Given the description of an element on the screen output the (x, y) to click on. 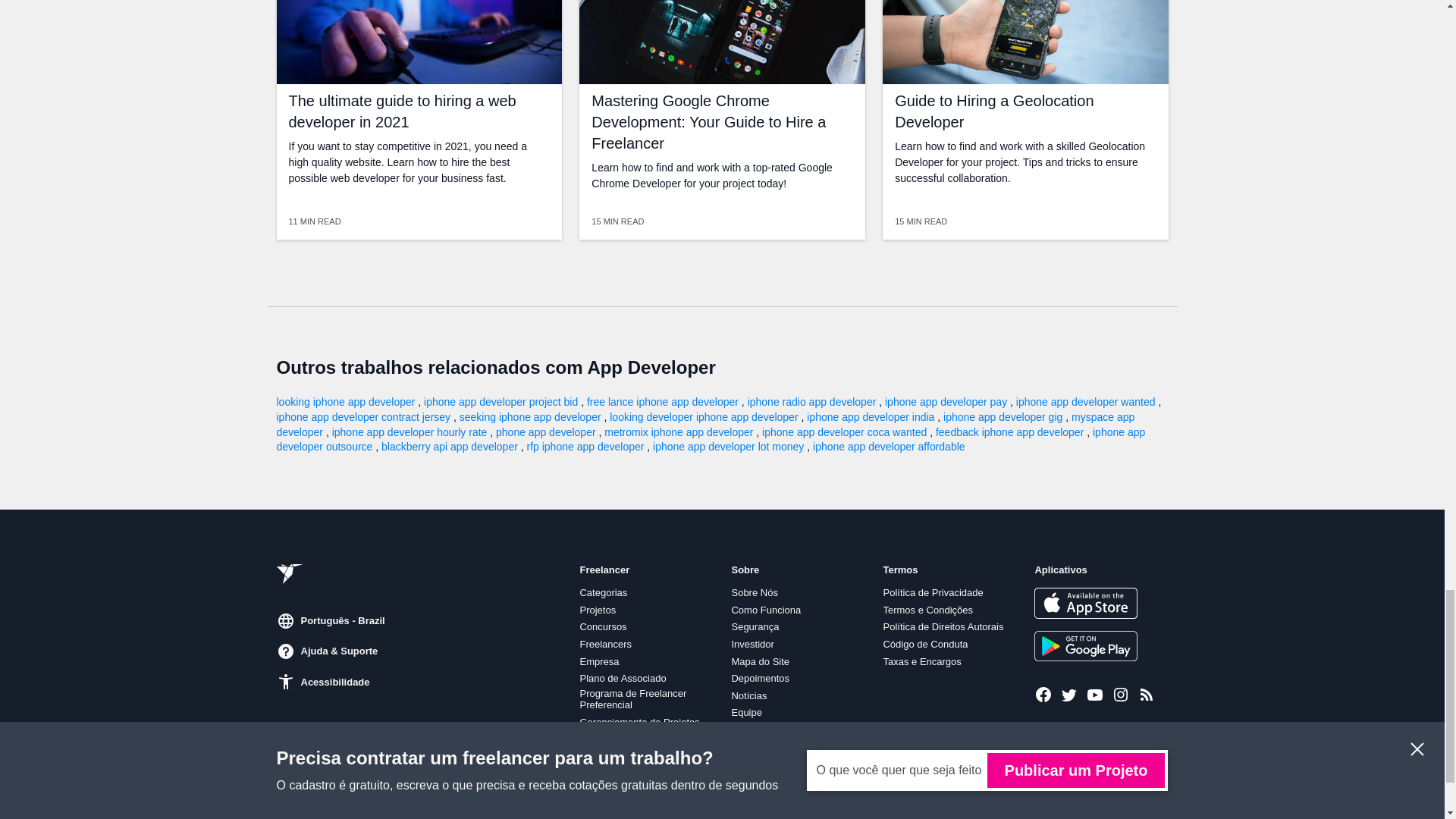
Baixar da App Store (1085, 603)
Projetos mais Recentes (1146, 694)
Freelancer no Instagram (1120, 694)
Freelancer no Facebook (1042, 694)
Freelancer no Youtube (1094, 694)
Obter no Google Play (1085, 645)
Freelancer no Twitter (1068, 694)
